Given the description of an element on the screen output the (x, y) to click on. 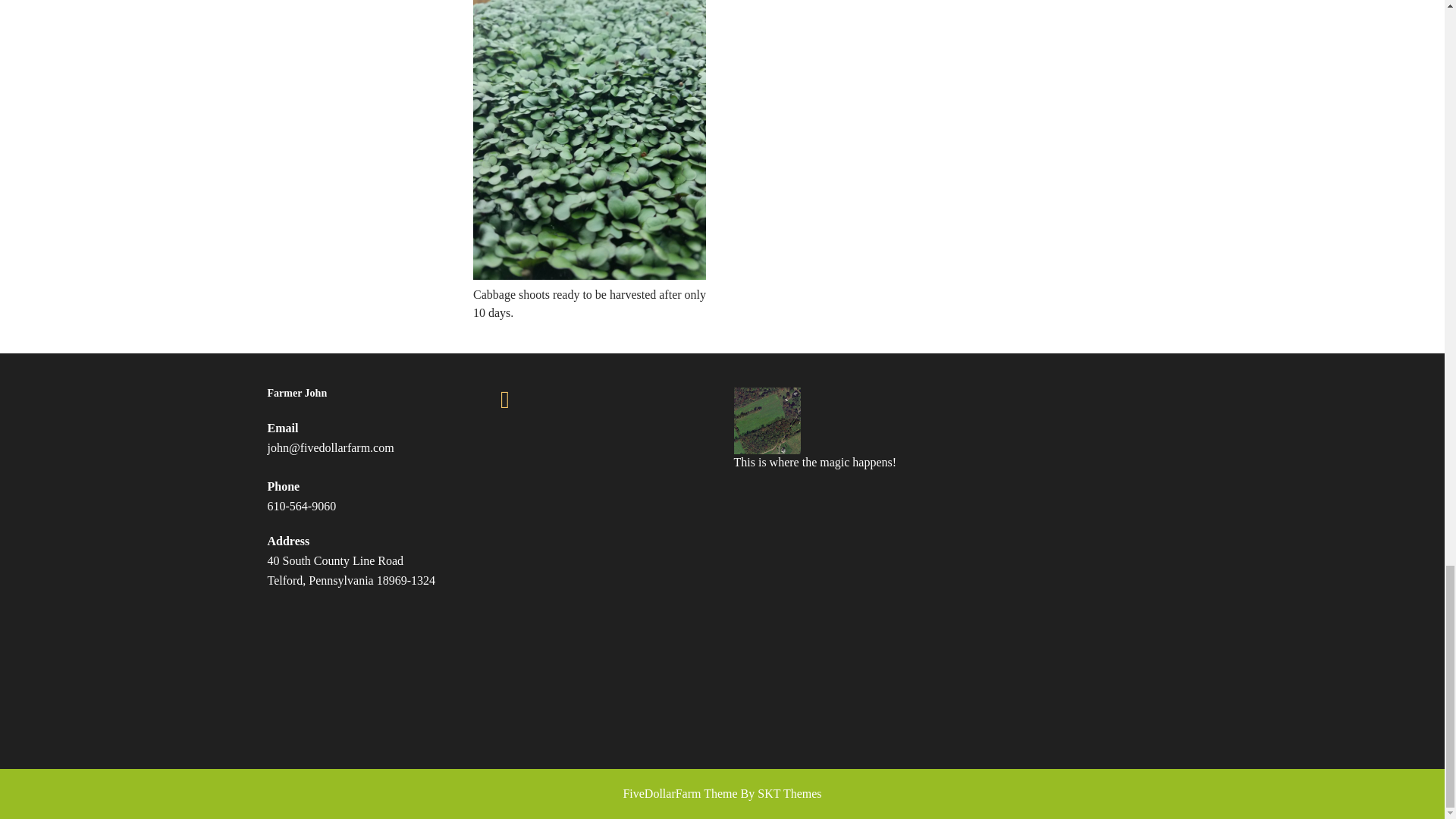
Visit FiveDollarFarm on reddit (526, 402)
